Given the description of an element on the screen output the (x, y) to click on. 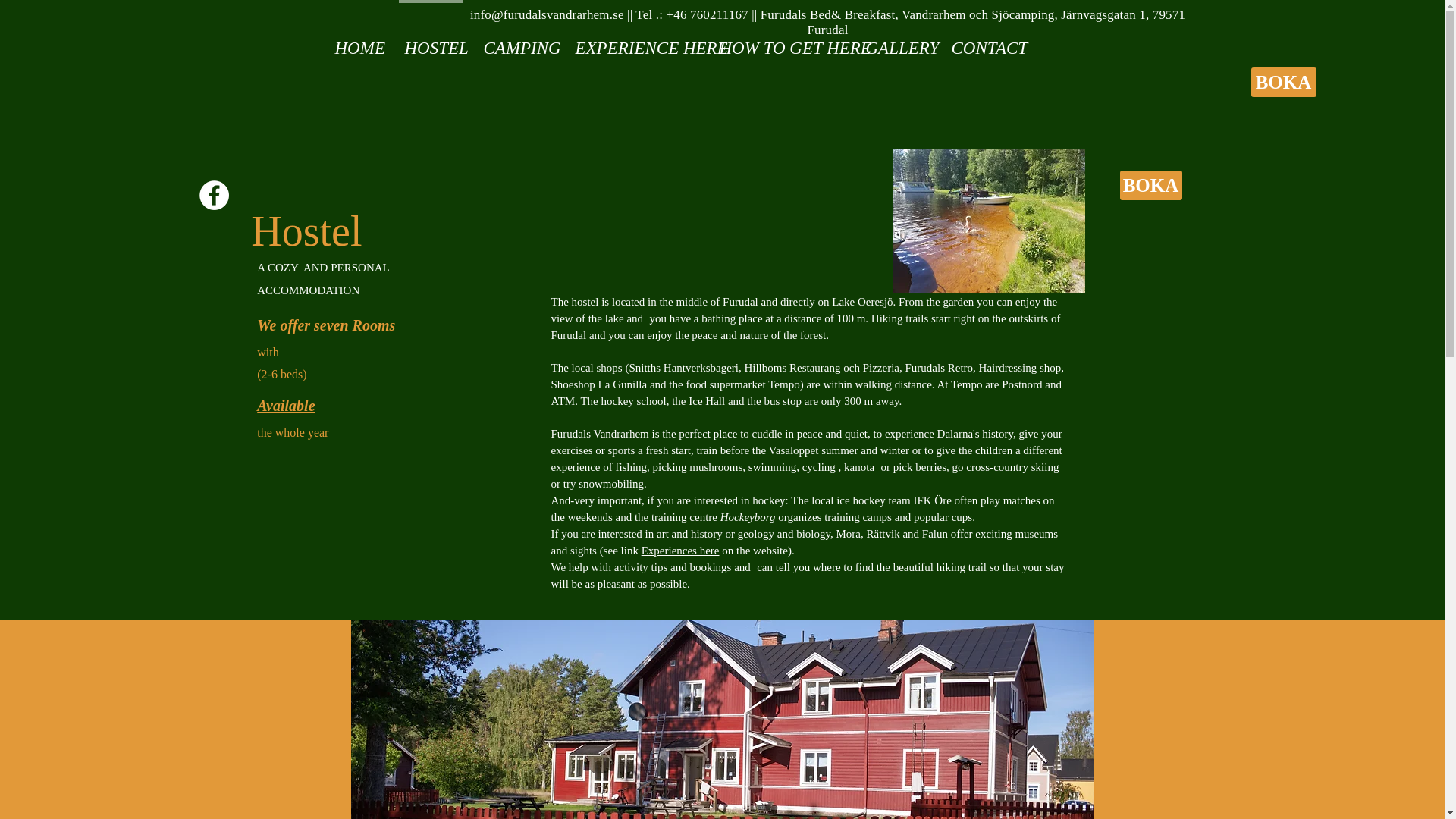
Experiences here (680, 550)
BOKA (1149, 184)
EXPERIENCE HERE (632, 41)
BOKA (1283, 82)
CONTACT (981, 41)
HOW TO GET HERE (777, 41)
GALLERY (894, 41)
CAMPING (516, 41)
HOSTEL (430, 41)
